Given the description of an element on the screen output the (x, y) to click on. 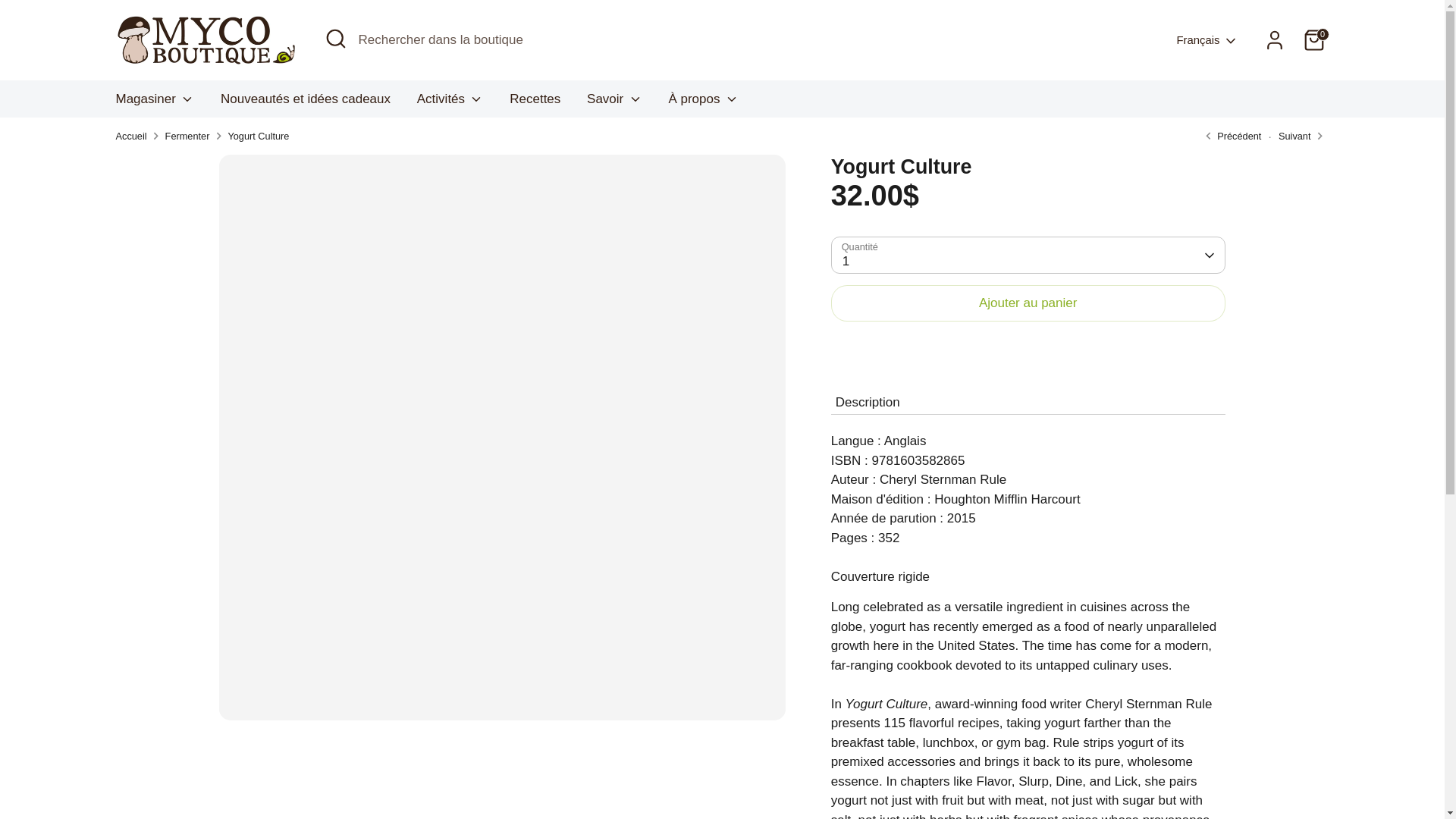
0 (1312, 40)
